Given the description of an element on the screen output the (x, y) to click on. 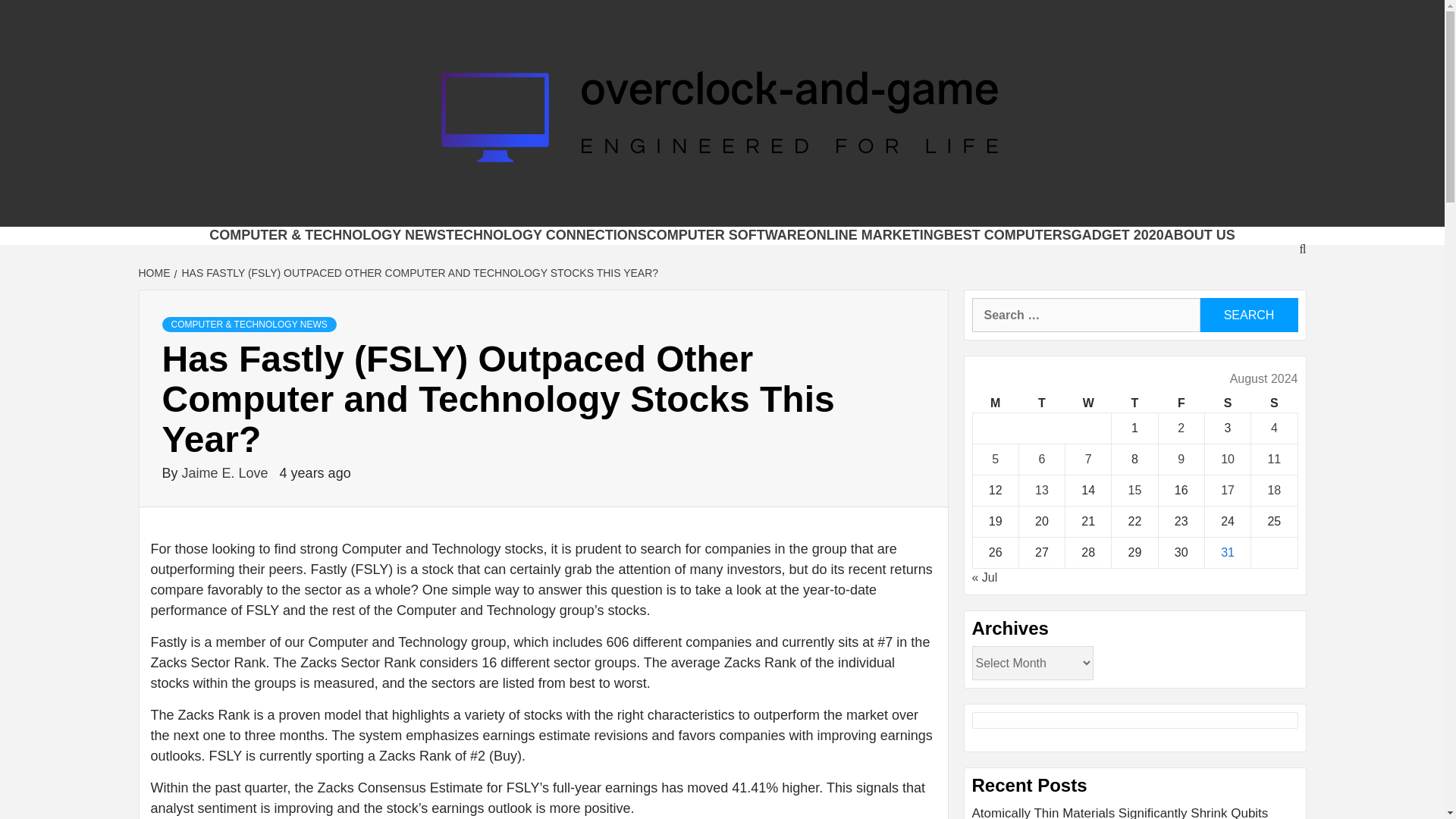
COMPUTER SOFTWARE (726, 234)
Monday (994, 403)
HOME (155, 272)
Wednesday (1088, 403)
OVERCLOCK-AND-GAME (604, 207)
Jaime E. Love (227, 473)
GADGET 2020 (1117, 234)
Thursday (1134, 403)
ONLINE MARKETING (874, 234)
Tuesday (1040, 403)
